Given the description of an element on the screen output the (x, y) to click on. 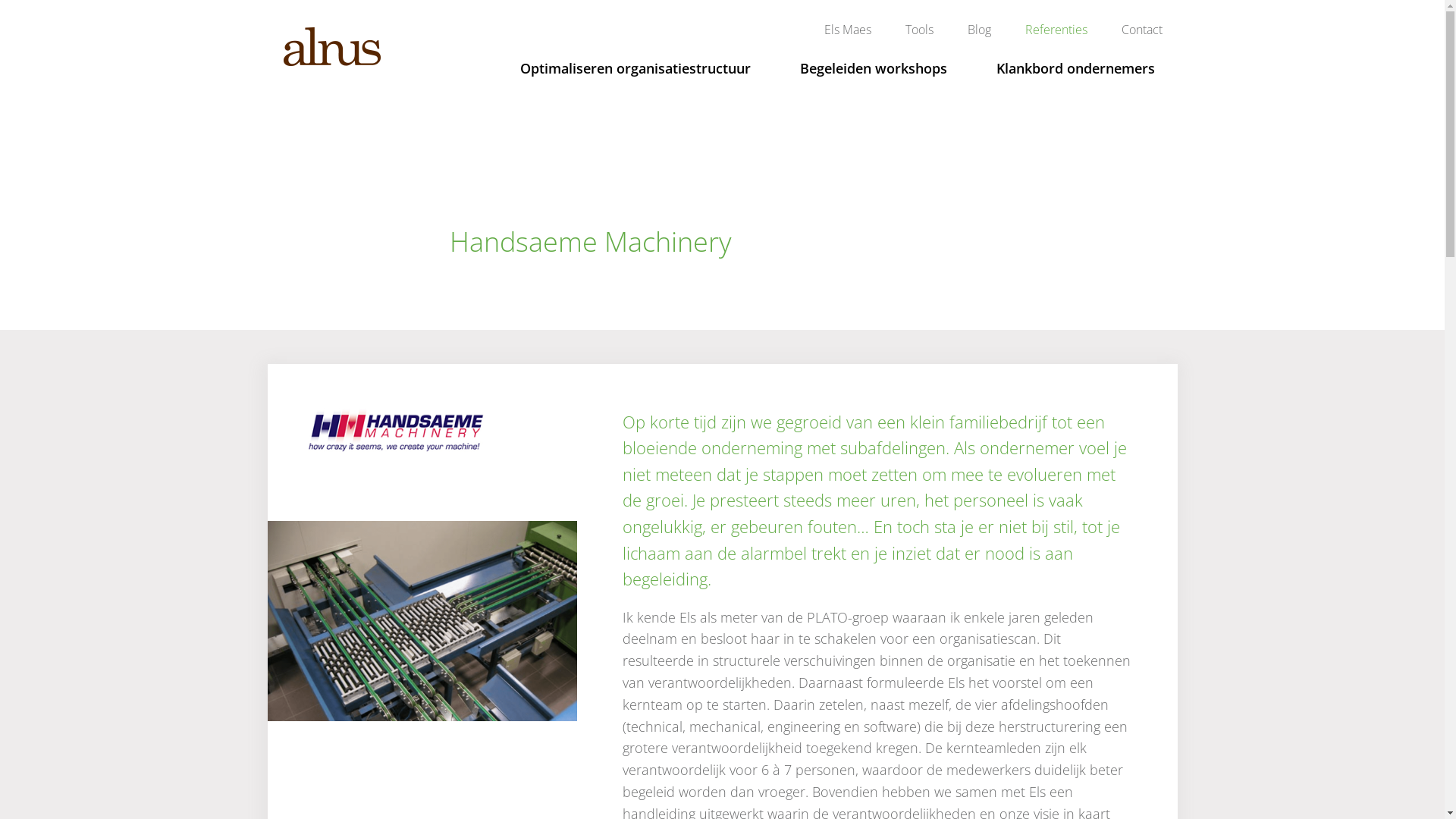
Klankbord ondernemers Element type: text (1074, 68)
Referentie alnus - Handaeme Machinery Element type: hover (396, 431)
Tools Element type: text (919, 29)
Blog Element type: text (979, 29)
Contact Element type: text (1140, 29)
Begeleiden workshops Element type: text (873, 68)
Optimaliseren organisatiestructuur Element type: text (634, 68)
Referenties Element type: text (1056, 29)
Referentie alnus - Handaeme Machinery Element type: hover (421, 620)
Els Maes Element type: text (846, 29)
Overslaan en naar de inhoud gaan Element type: text (0, 0)
